Given the description of an element on the screen output the (x, y) to click on. 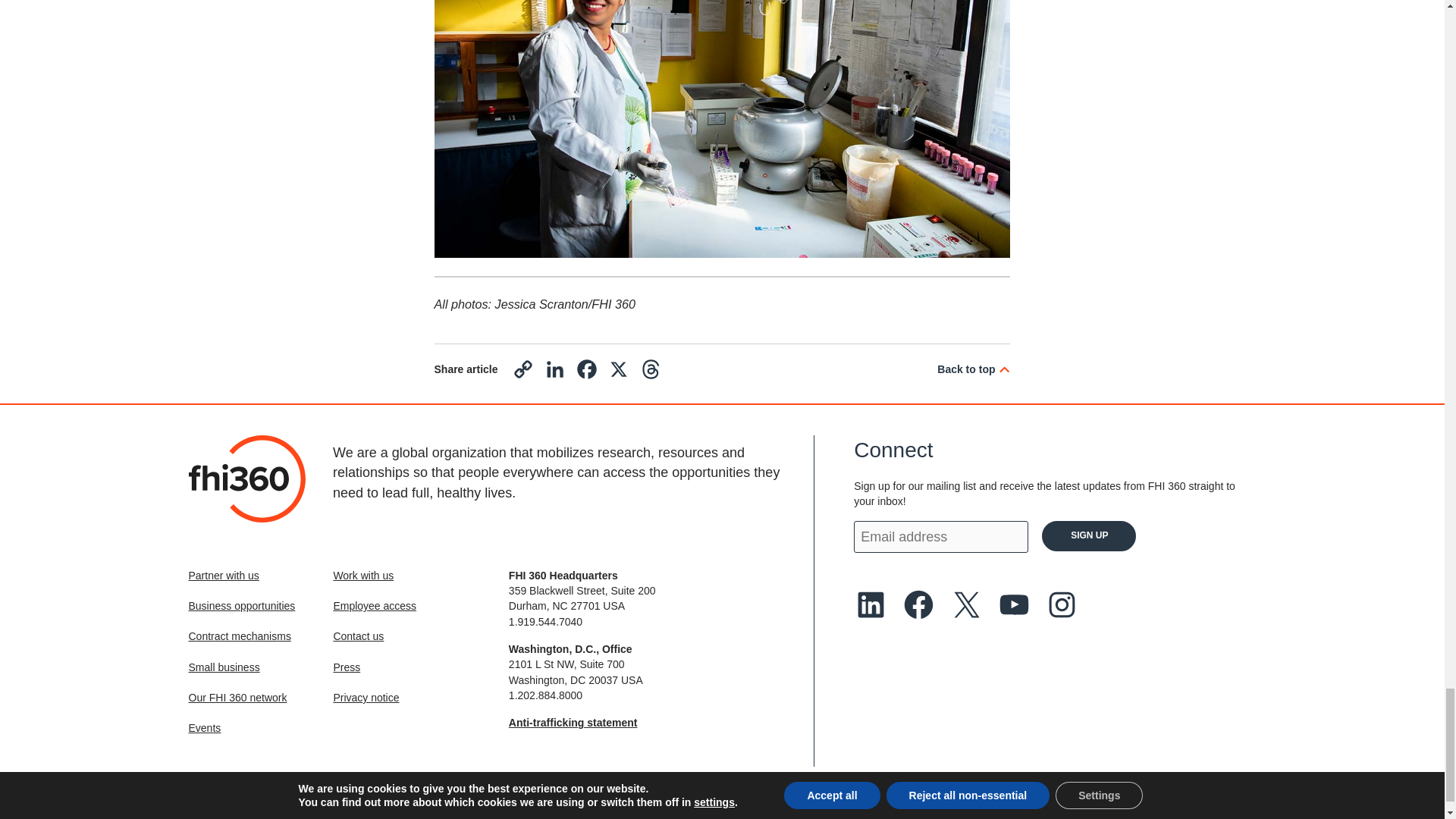
Threads (650, 373)
X (618, 373)
Sign Up (1088, 535)
LinkedIn (554, 373)
Facebook (586, 373)
